Given the description of an element on the screen output the (x, y) to click on. 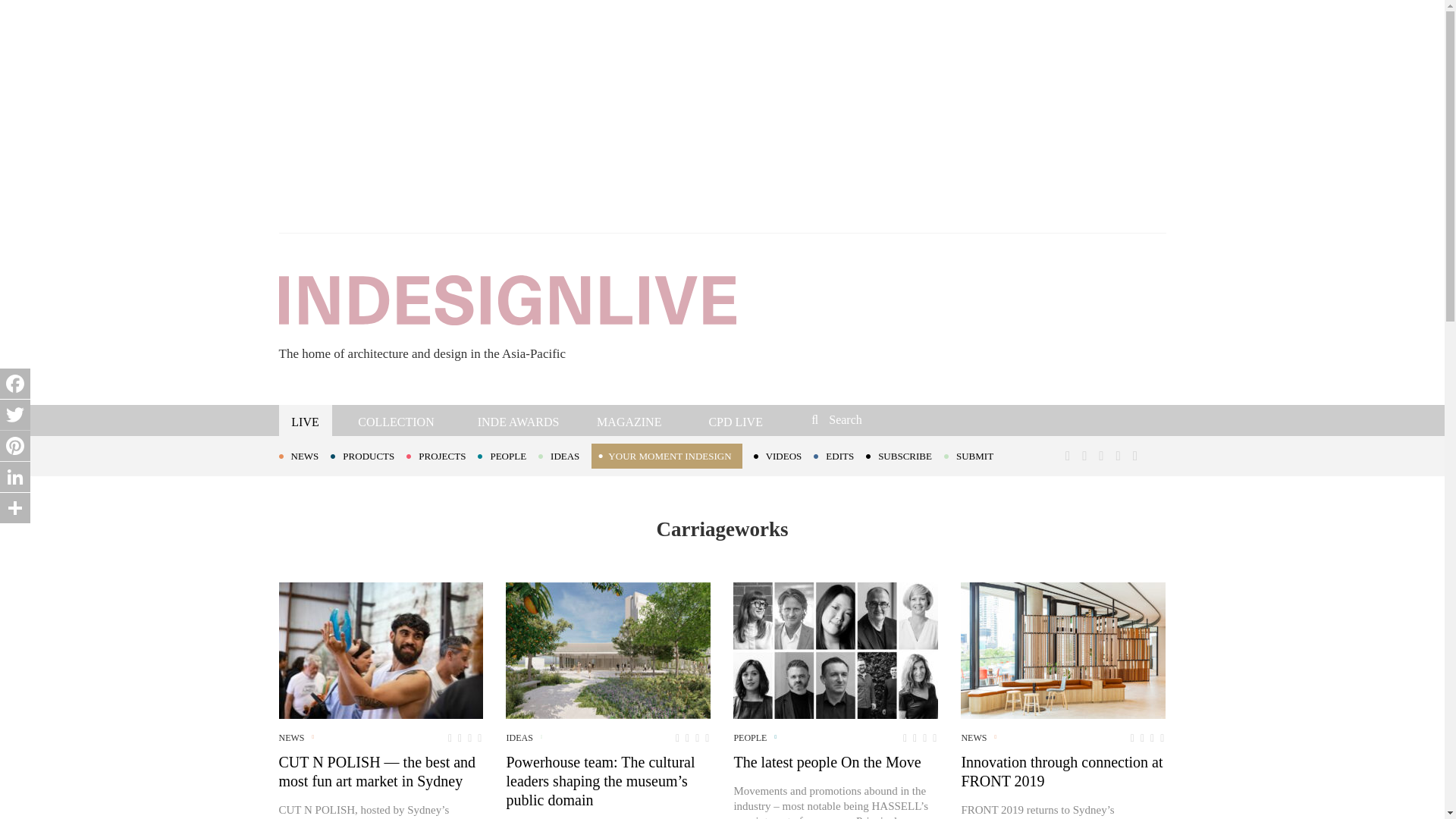
VIDEOS (783, 455)
YOUR MOMENT INDESIGN (666, 455)
The latest people On the Move (835, 650)
Search (913, 418)
NEWS (305, 455)
SUBSCRIBE (904, 455)
PROJECTS (441, 455)
Innovation through connection at FRONT 2019 (1063, 650)
SUBMIT (974, 455)
